Given the description of an element on the screen output the (x, y) to click on. 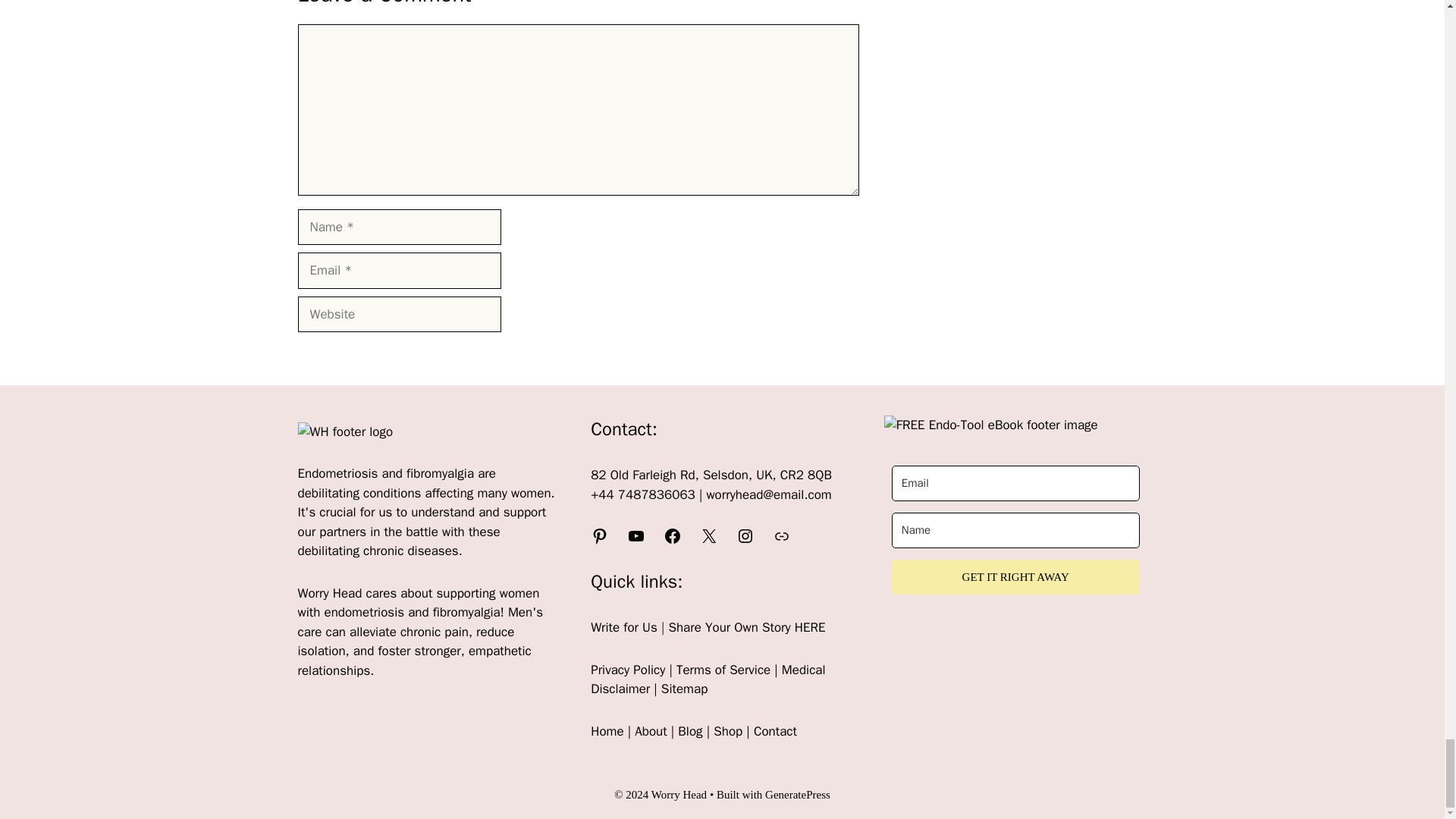
Facebook (672, 536)
Blog (689, 731)
Instagram (745, 536)
Home (607, 731)
Share Your Own Story HERE (746, 627)
YouTube (636, 536)
Terms of Service (723, 669)
About (650, 731)
Sitemap (684, 688)
Pinterest (599, 536)
